Given the description of an element on the screen output the (x, y) to click on. 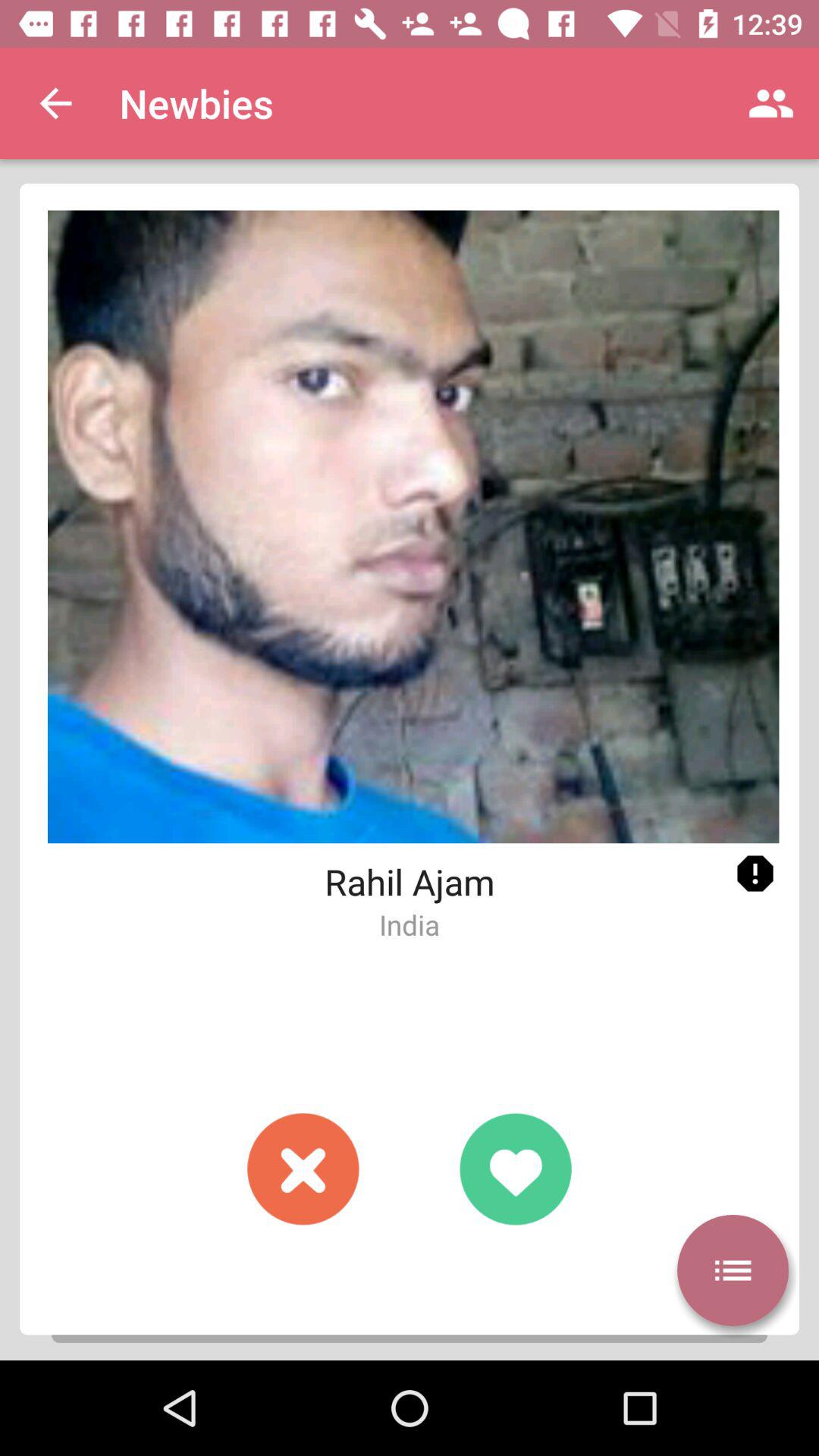
like the photo (515, 1169)
